Given the description of an element on the screen output the (x, y) to click on. 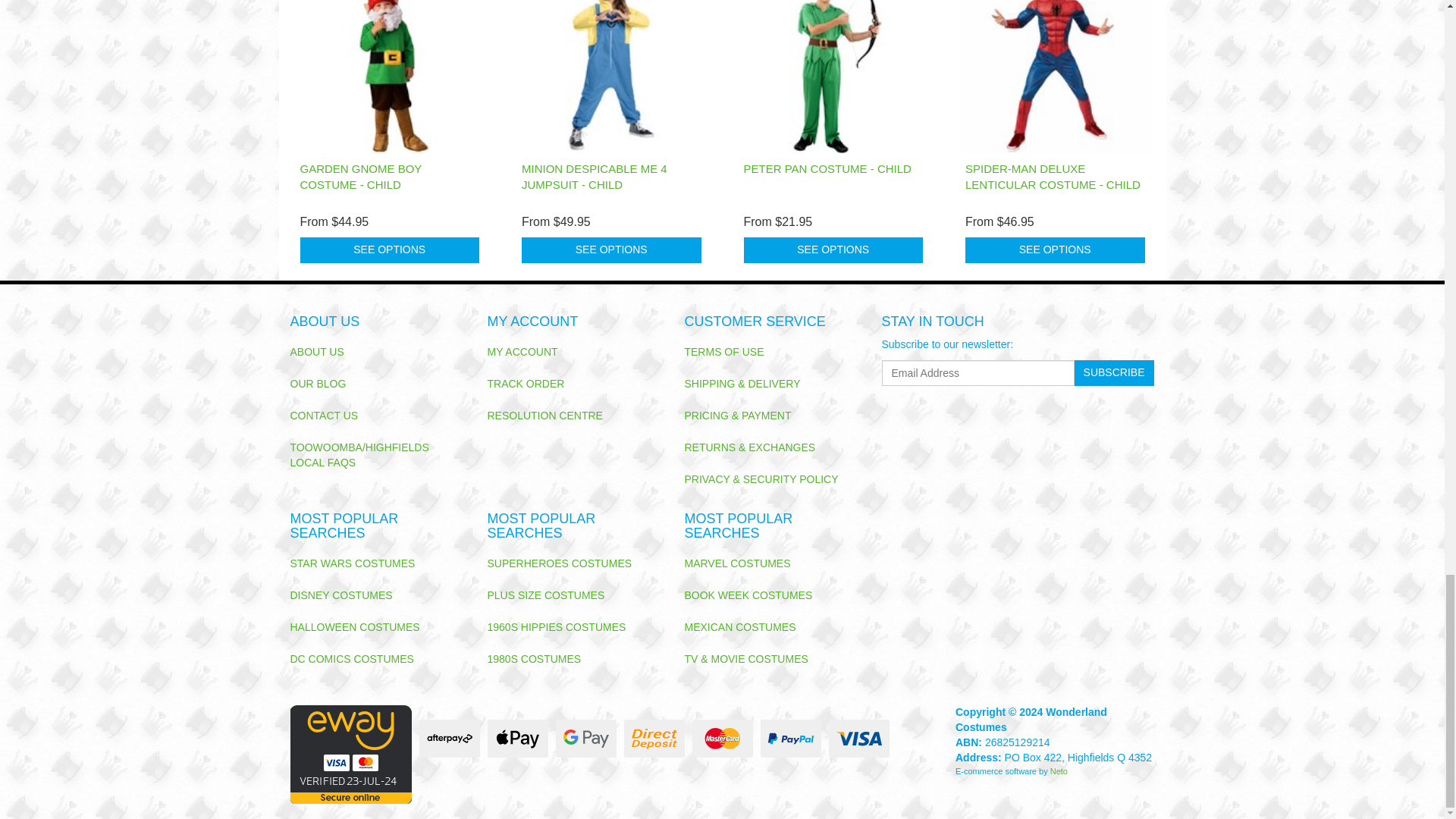
Subscribe (1114, 372)
